Given the description of an element on the screen output the (x, y) to click on. 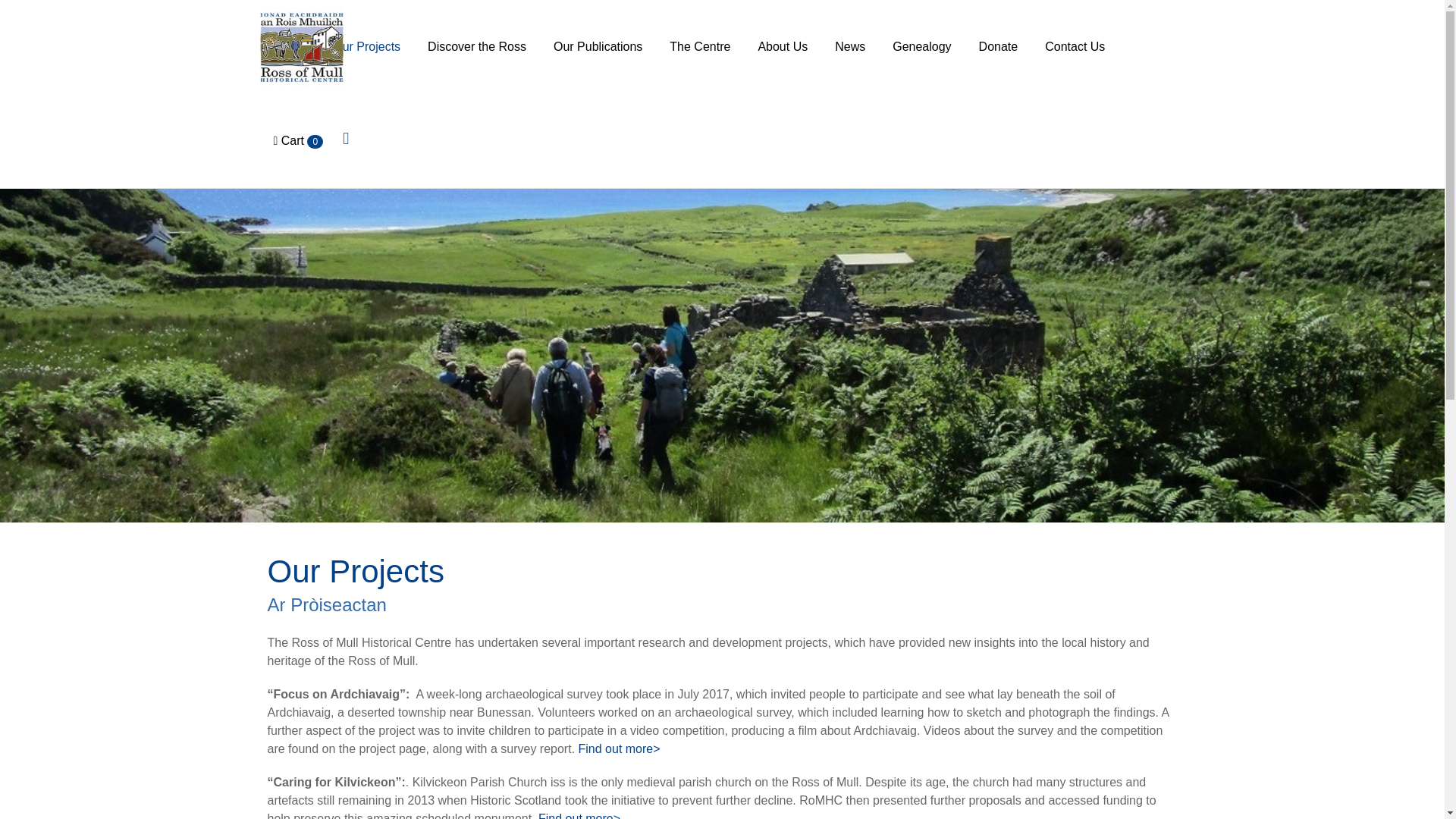
Discover the Ross (476, 47)
Our Publications (598, 47)
Our Projects (365, 47)
The Centre (700, 47)
